Given the description of an element on the screen output the (x, y) to click on. 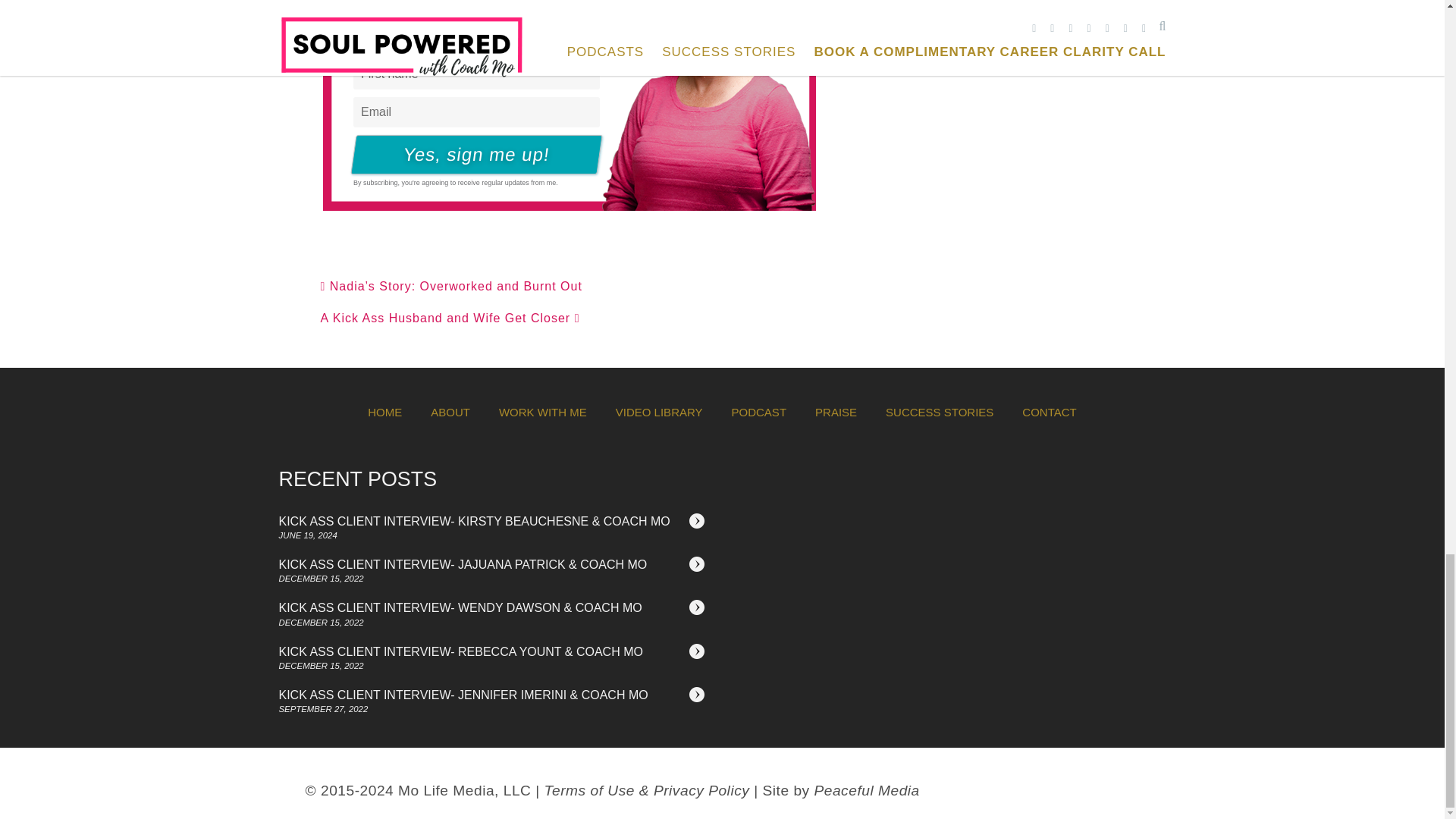
Yes, sign me up! (473, 154)
Yes, sign me up! (473, 154)
A Kick Ass Husband and Wife Get Closer (449, 318)
